Given the description of an element on the screen output the (x, y) to click on. 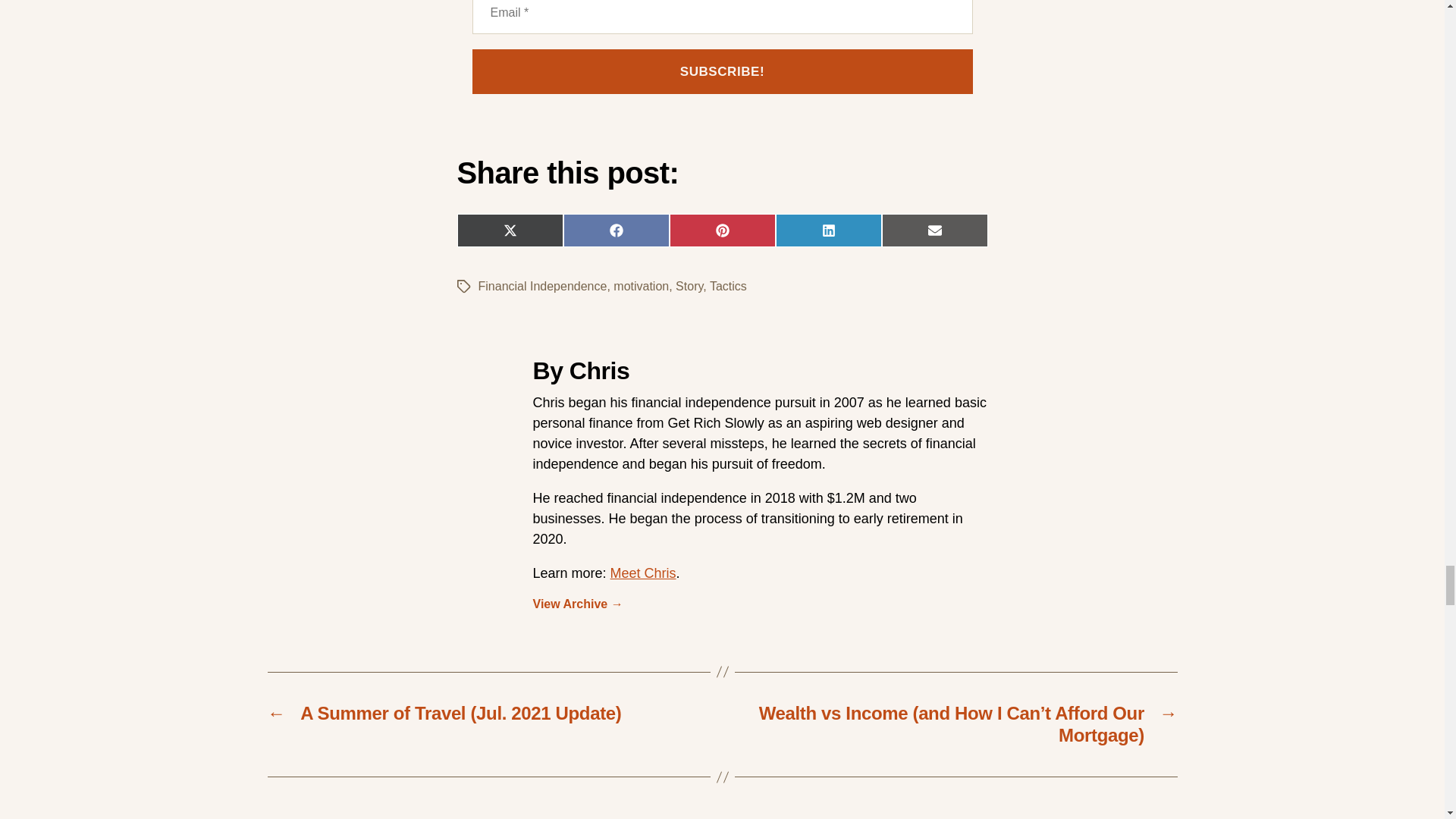
Subscribe! (721, 71)
Email (721, 17)
